Given the description of an element on the screen output the (x, y) to click on. 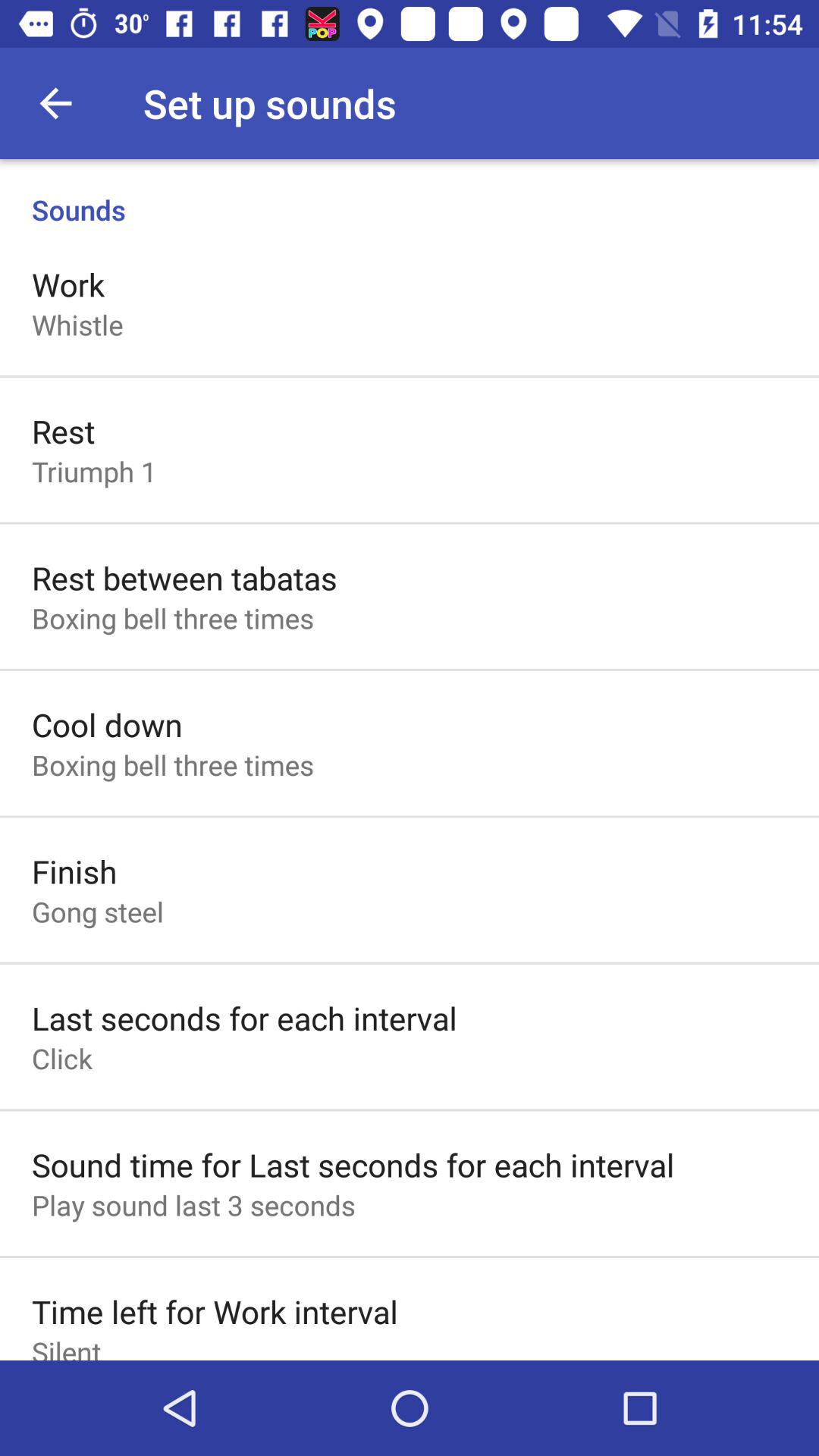
launch finish icon (74, 870)
